Given the description of an element on the screen output the (x, y) to click on. 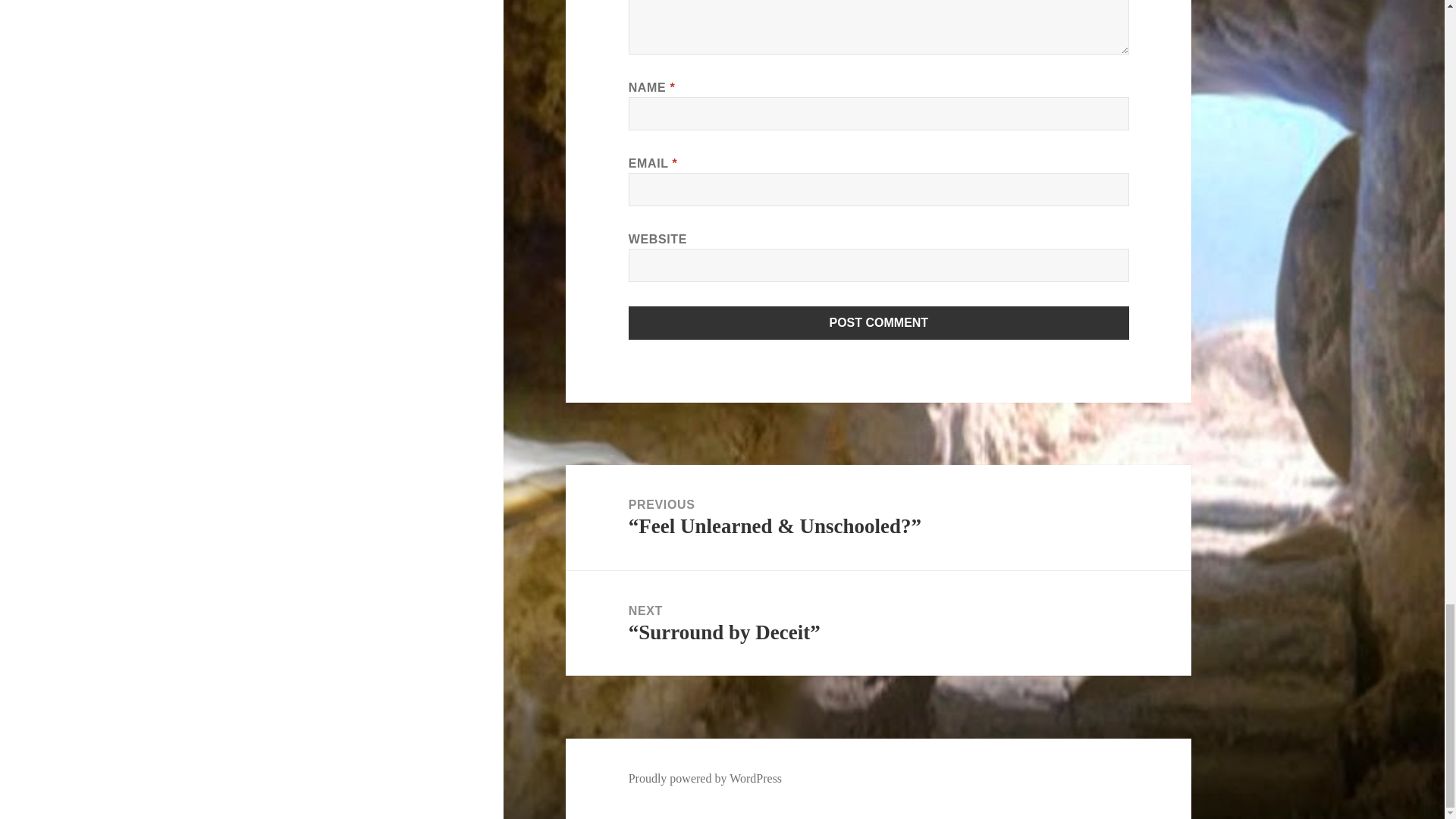
Post Comment (878, 322)
